Given the description of an element on the screen output the (x, y) to click on. 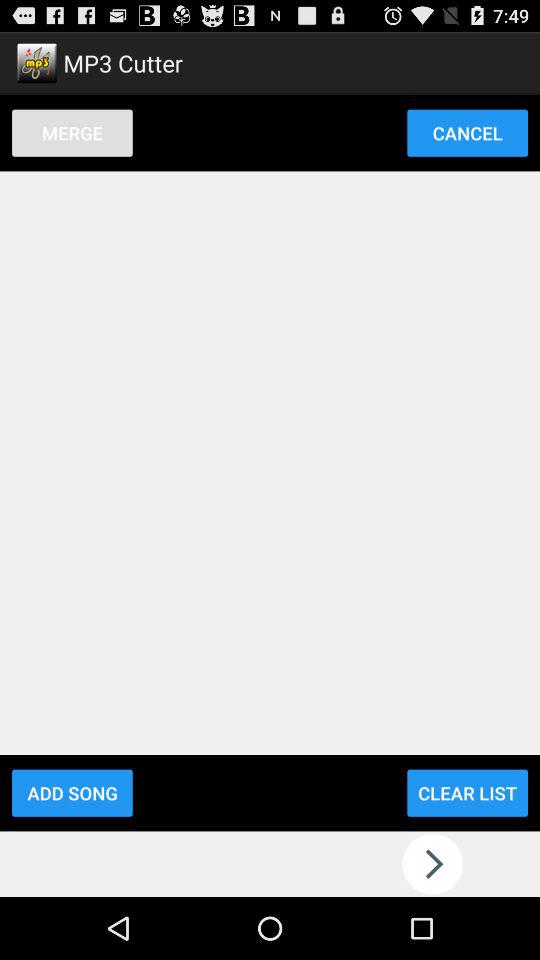
open the icon to the right of add song icon (467, 792)
